Given the description of an element on the screen output the (x, y) to click on. 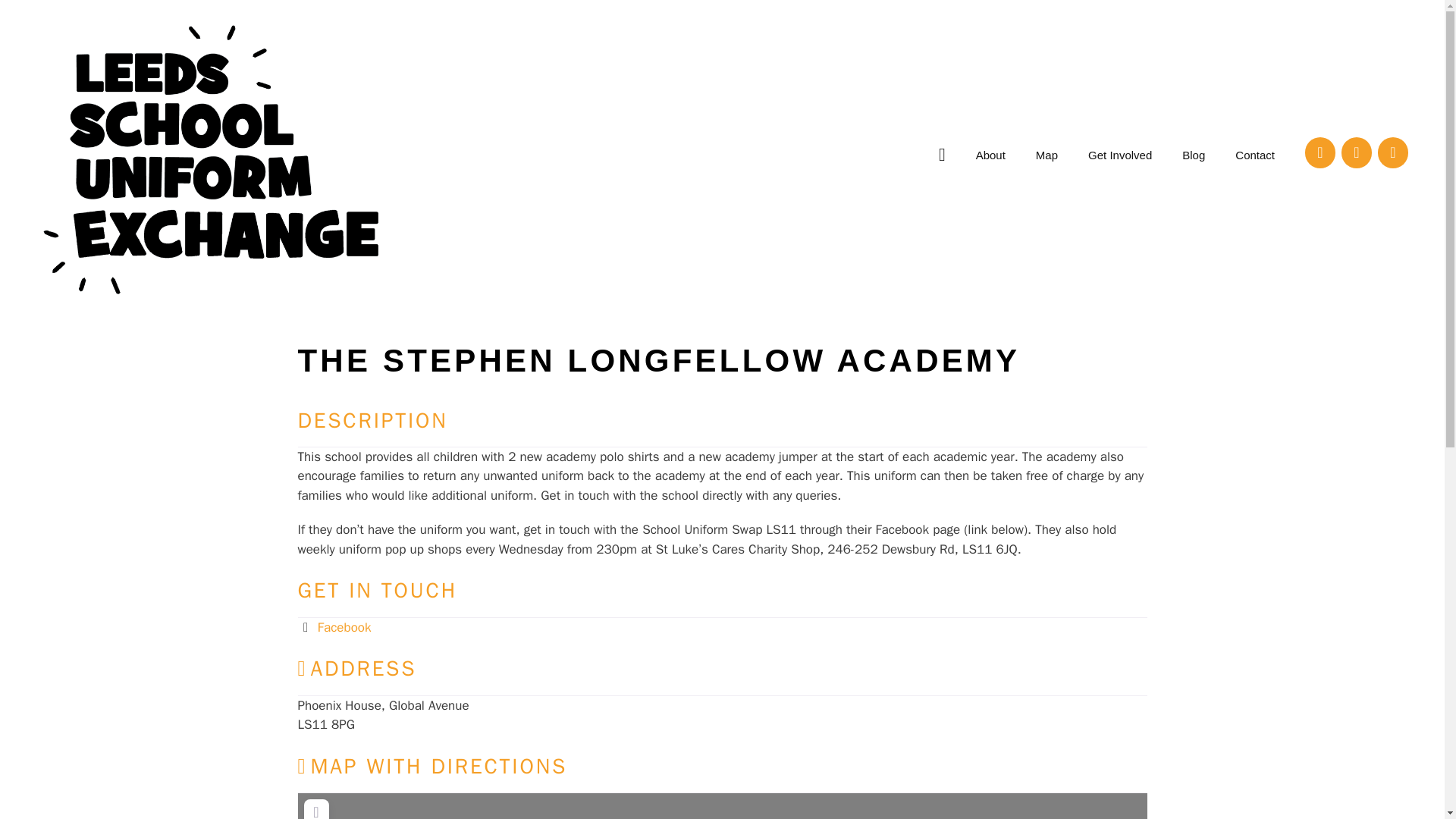
DESCRIPTION (371, 419)
Contact (1255, 155)
About (990, 155)
Facebook (344, 627)
Blog (1193, 155)
ADDRESS (356, 668)
GET IN TOUCH (377, 590)
Map (1046, 155)
Facebook (1319, 151)
Get Involved (1120, 155)
